Given the description of an element on the screen output the (x, y) to click on. 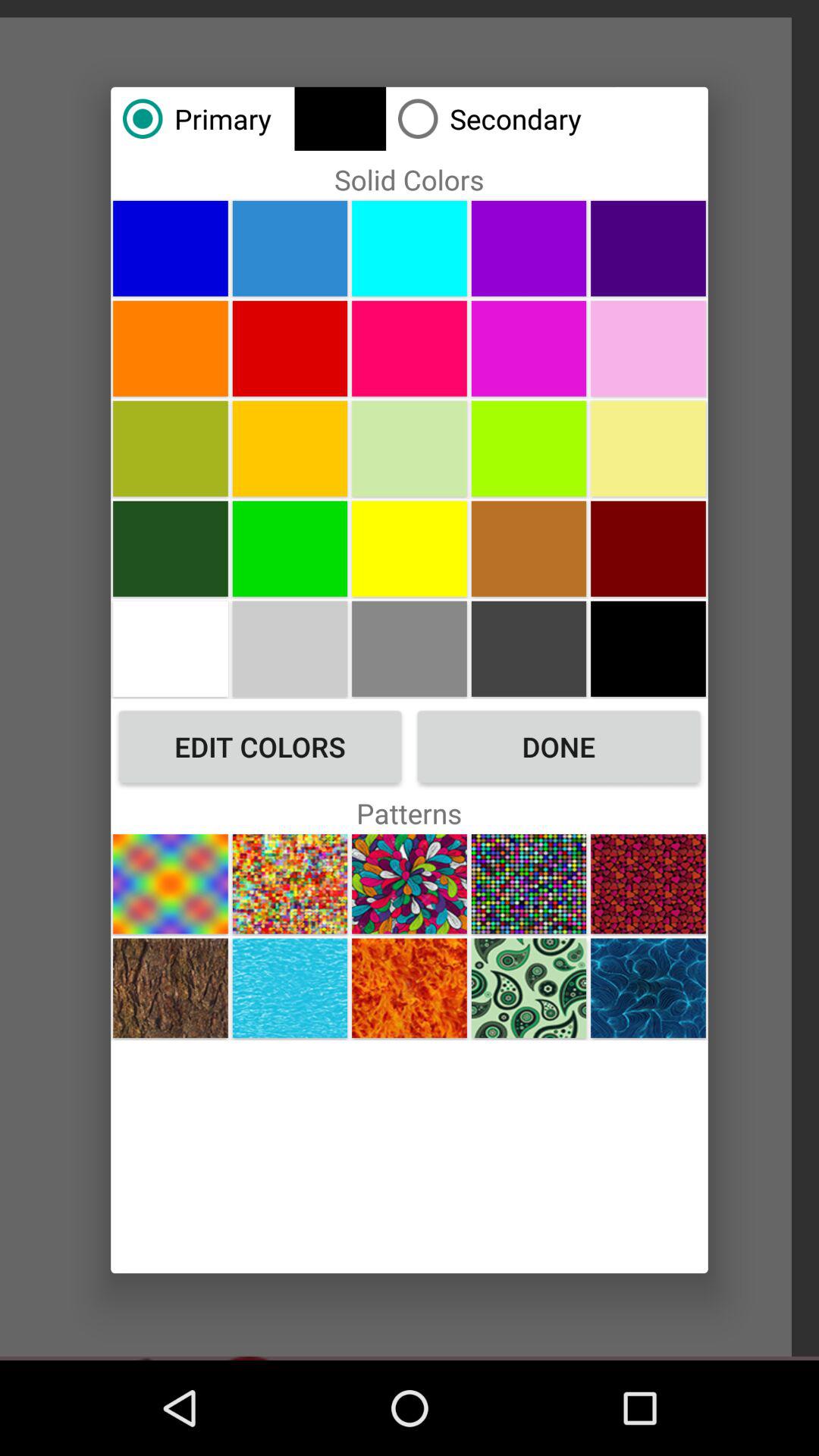
color selection (289, 248)
